Given the description of an element on the screen output the (x, y) to click on. 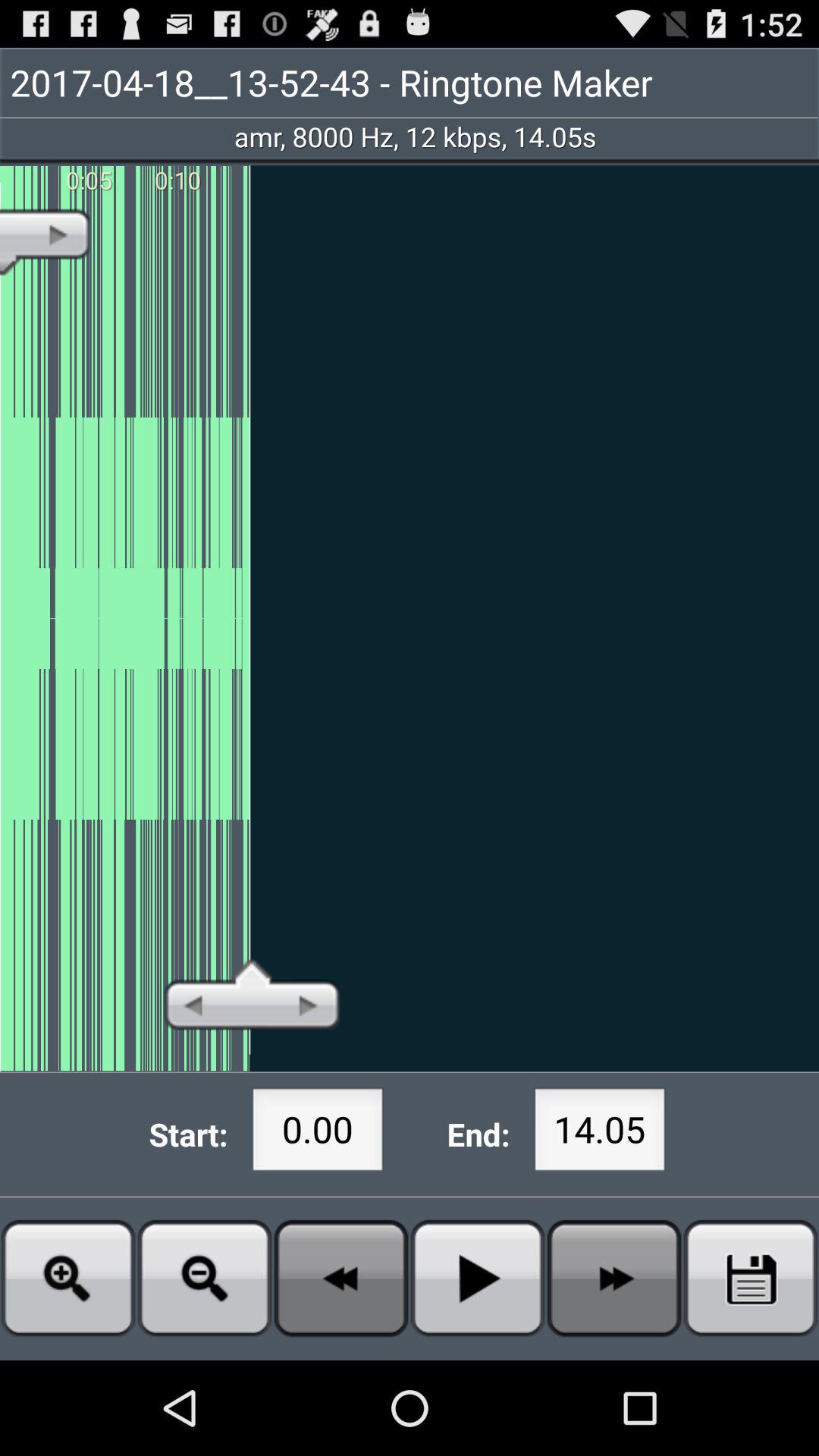
save the music clip (750, 1278)
